Given the description of an element on the screen output the (x, y) to click on. 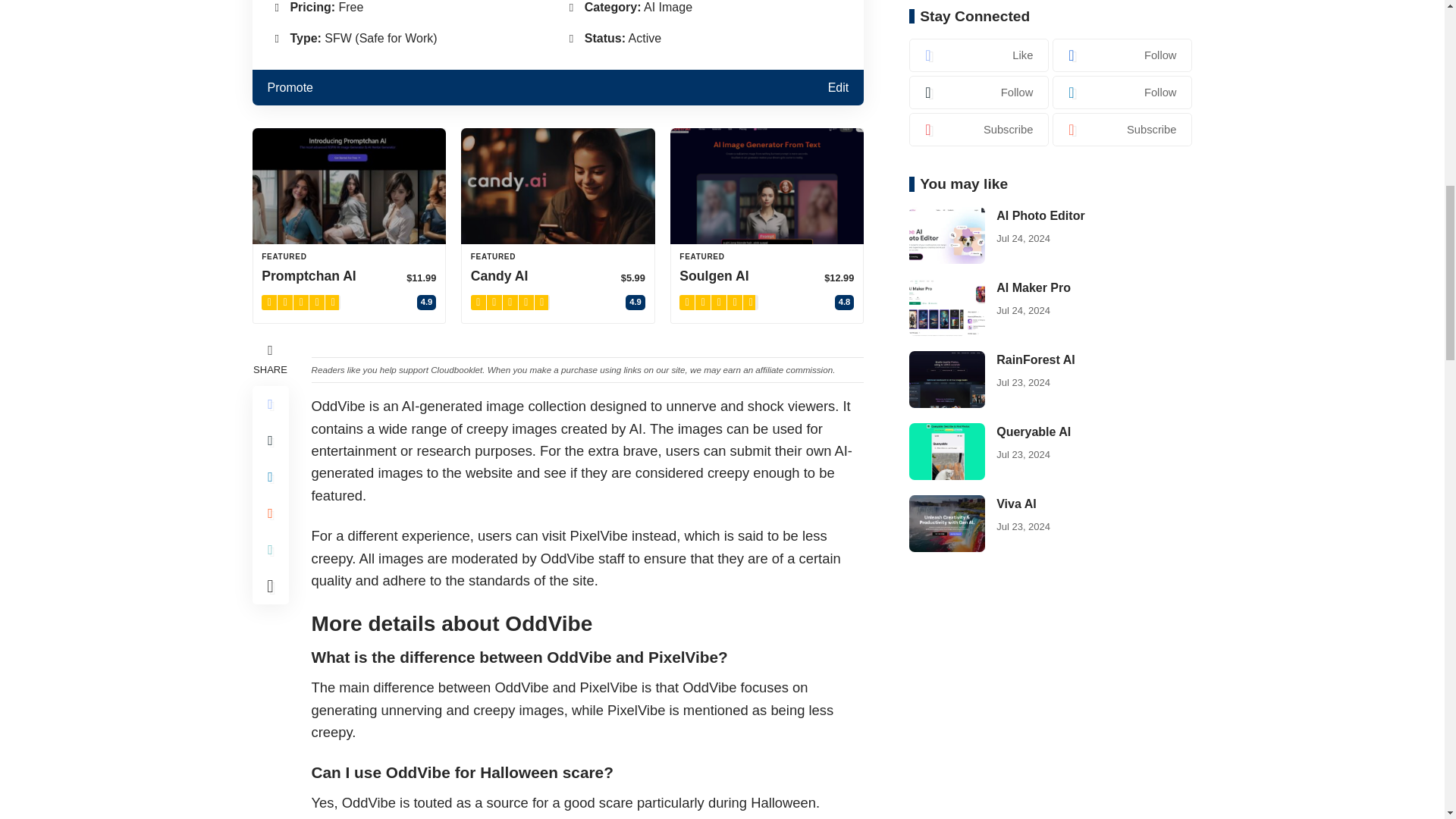
Promptchan AI (348, 185)
Soulgen AI (766, 185)
Candy AI (558, 185)
